Given the description of an element on the screen output the (x, y) to click on. 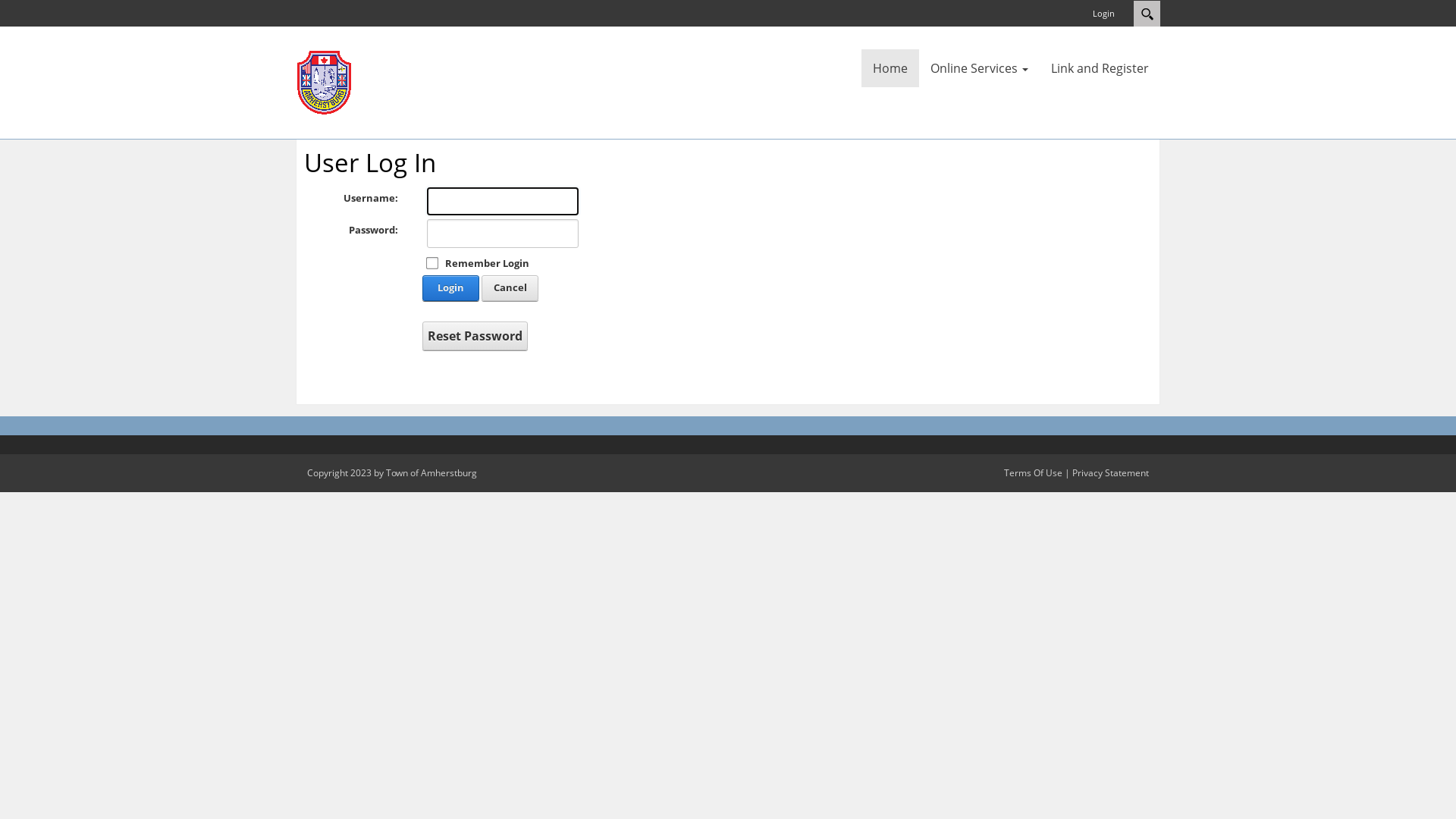
Home Element type: text (890, 68)
Privacy Statement Element type: text (1110, 472)
Online Services Element type: text (979, 68)
Amherstburg Element type: hover (323, 80)
Reset Password Element type: text (474, 335)
Login Element type: text (450, 288)
Login Element type: text (1103, 13)
Terms Of Use Element type: text (1033, 472)
Search Element type: text (1146, 13)
Cancel Element type: text (509, 288)
Link and Register Element type: text (1099, 68)
